Given the description of an element on the screen output the (x, y) to click on. 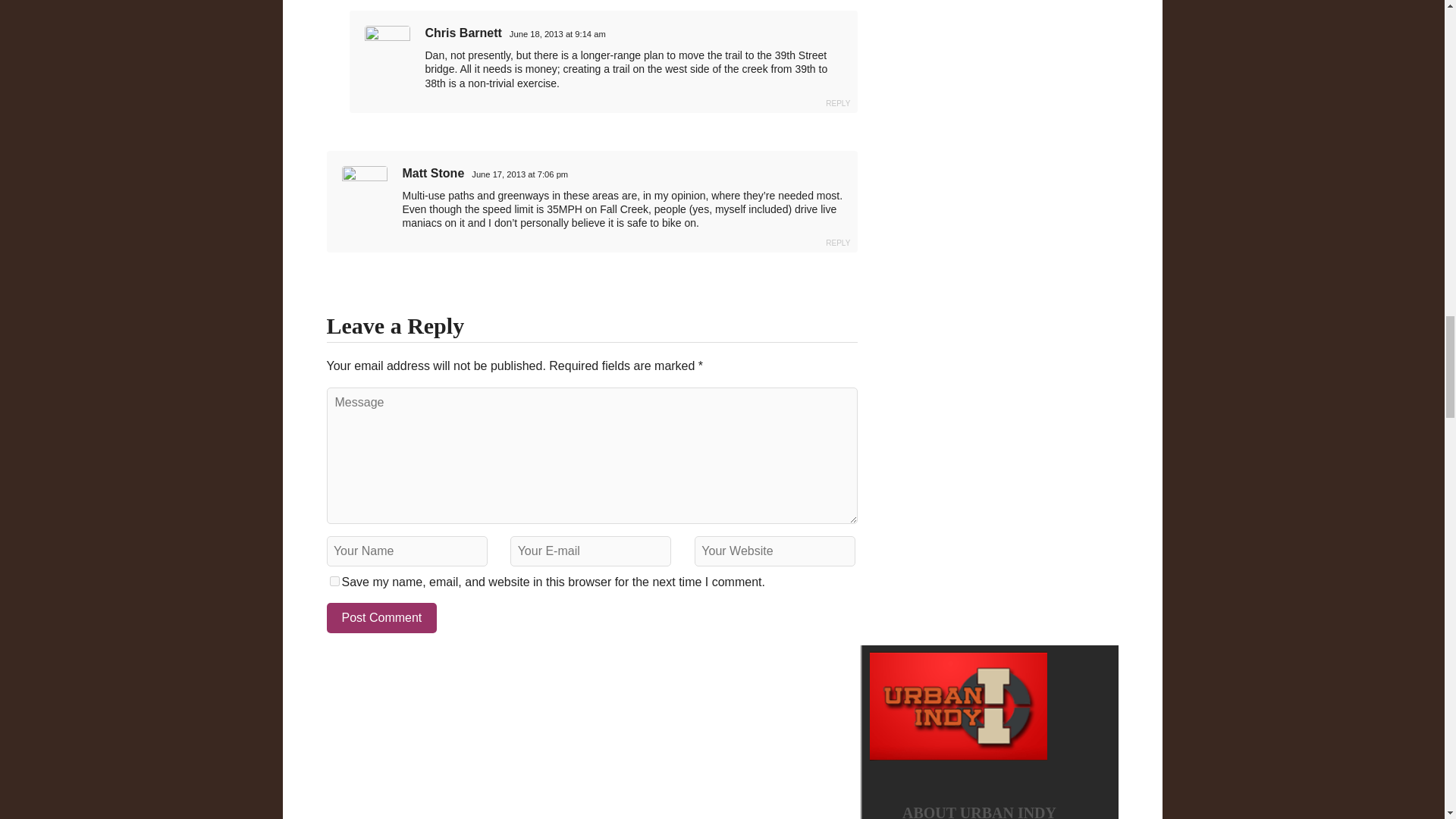
Post Comment (381, 617)
yes (334, 581)
